Given the description of an element on the screen output the (x, y) to click on. 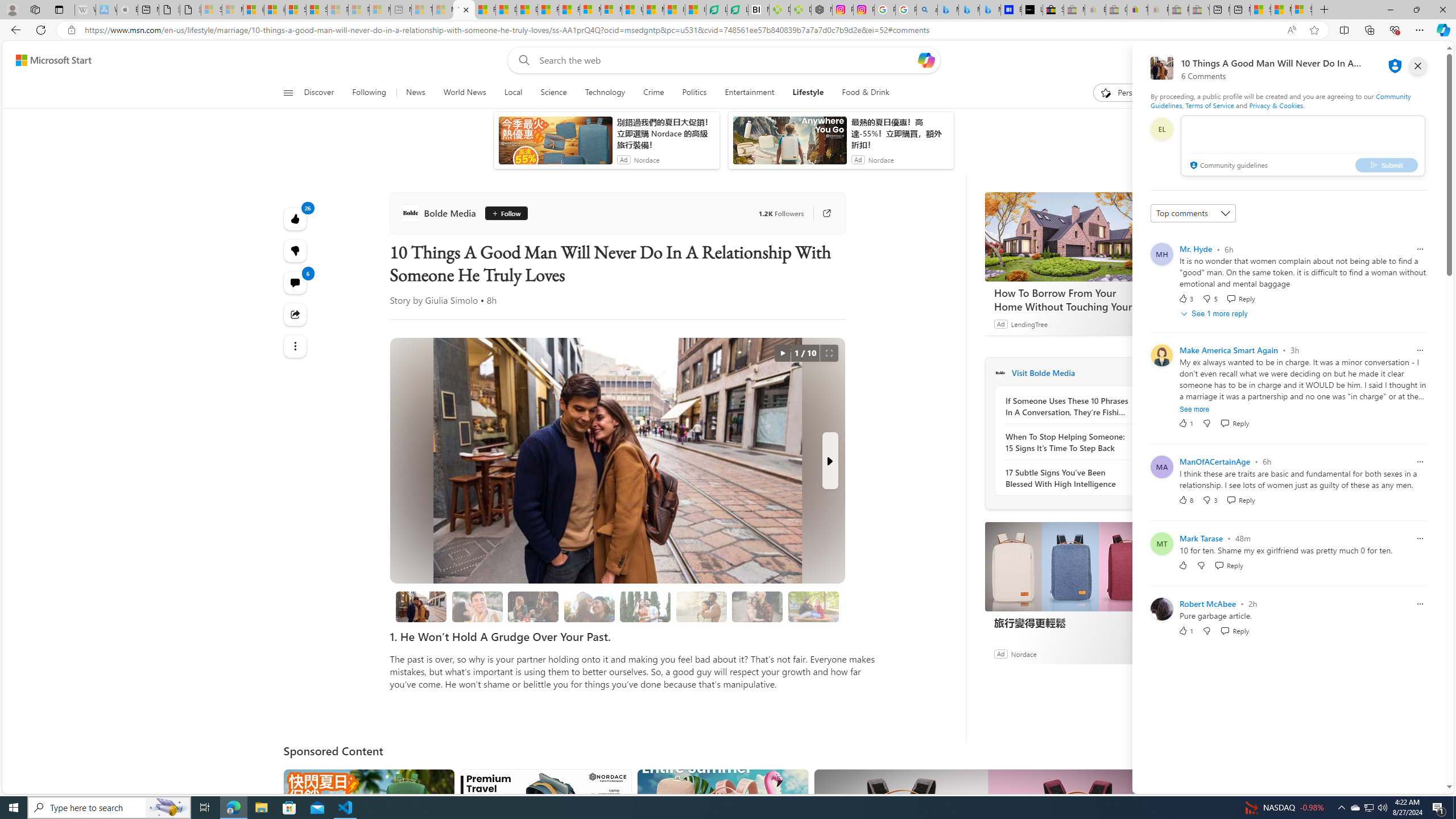
Threats and offensive language policy | eBay (1137, 9)
Lifestyle (808, 92)
Technology (604, 92)
Lifestyle (807, 92)
Community Guidelines (1280, 100)
Crime (653, 92)
Report comment (1419, 603)
